Given the description of an element on the screen output the (x, y) to click on. 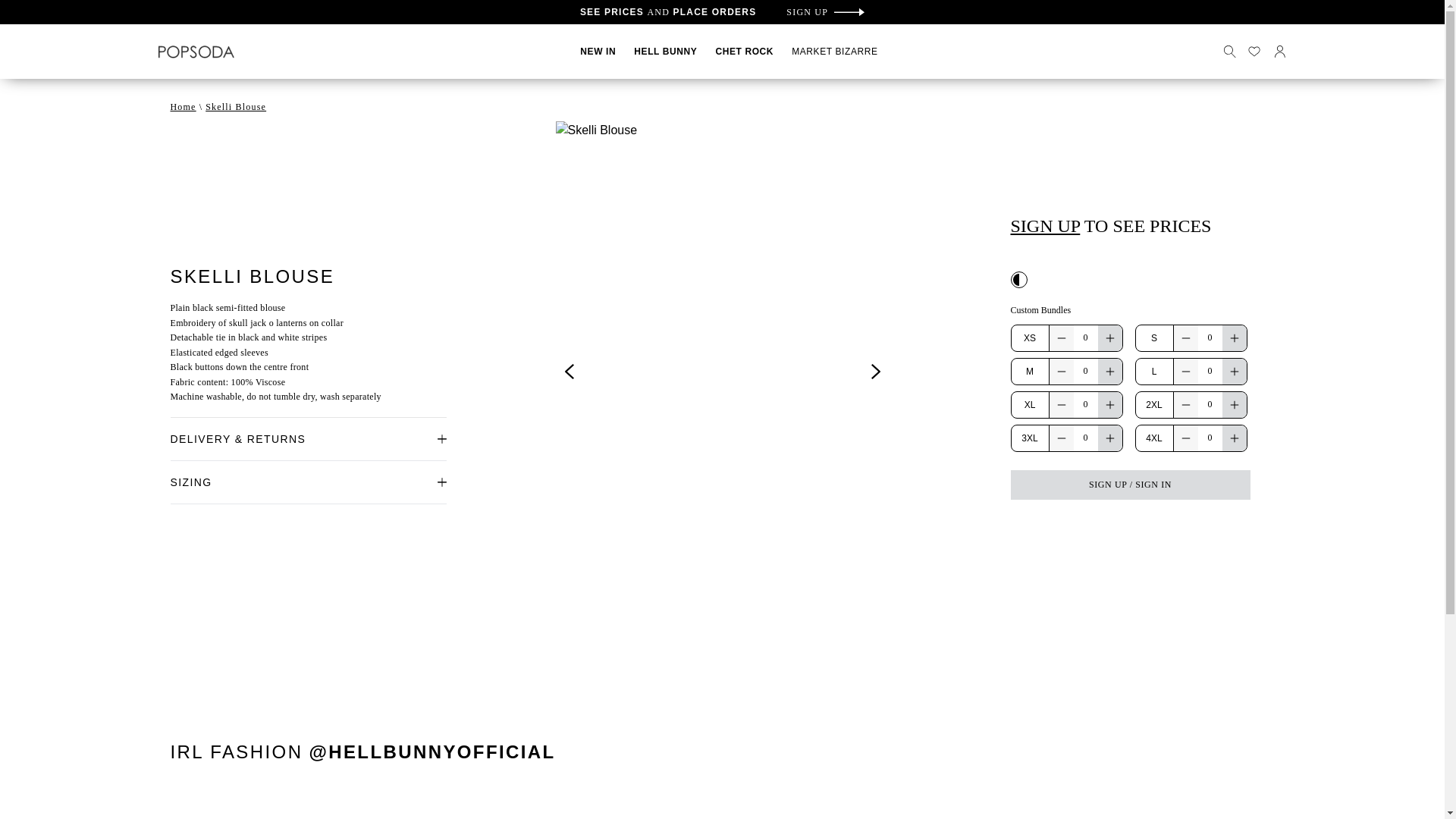
Hell bunny logo (194, 51)
0 (1085, 370)
0 (1085, 437)
0 (1210, 403)
SIGN UP (825, 11)
MARKET BIZARRE (834, 50)
0 (1085, 403)
0 (1085, 337)
0 (1210, 337)
0 (1210, 437)
